Given the description of an element on the screen output the (x, y) to click on. 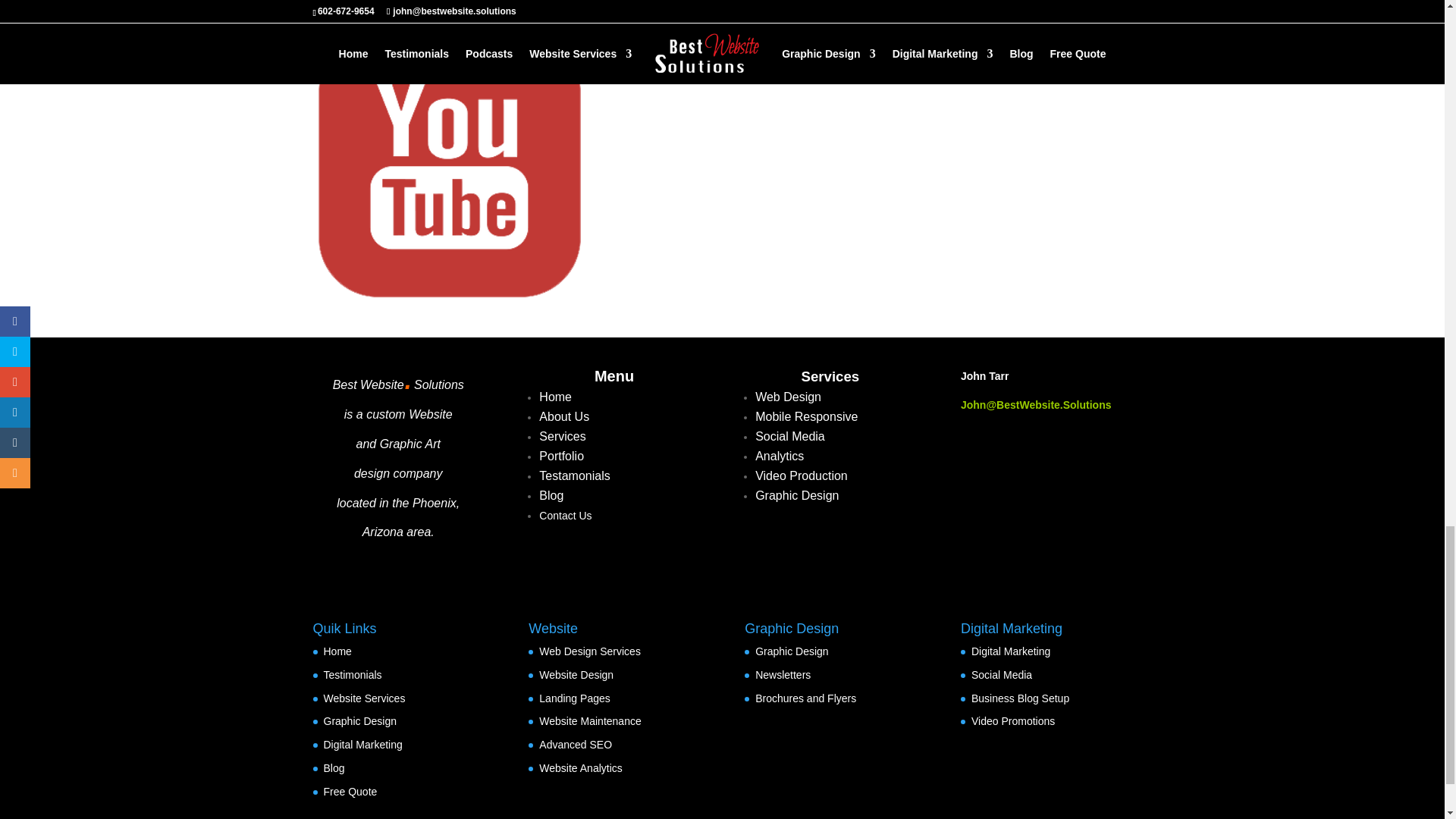
Follow on Facebook (755, 39)
Follow on Youtube (871, 39)
Follow on Instagram (899, 39)
Follow on LinkedIn (842, 39)
Follow on Twitter (784, 39)
Follow on Flickr (813, 39)
